Given the description of an element on the screen output the (x, y) to click on. 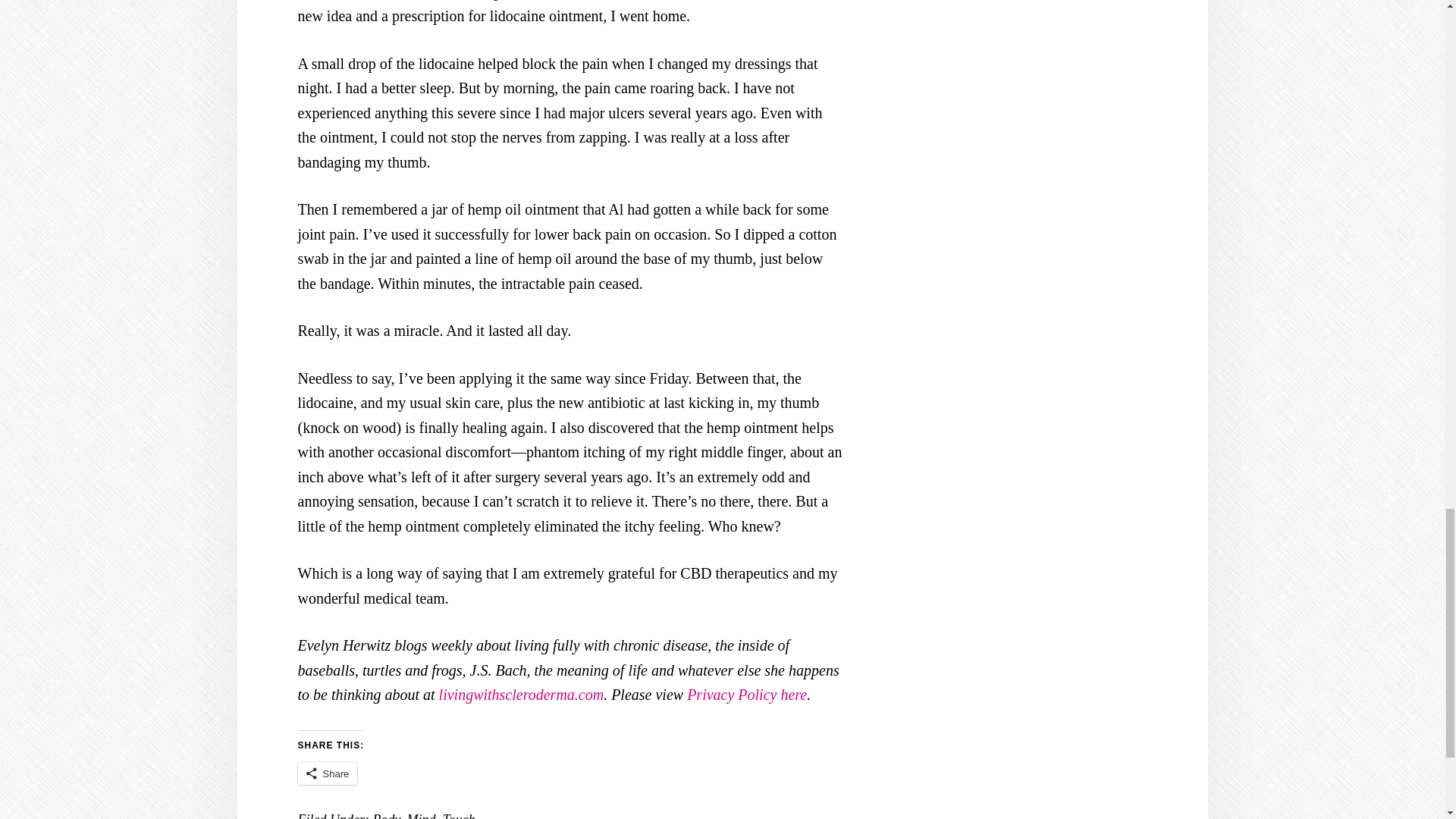
Body (385, 815)
Privacy Policy here (746, 694)
Mind (420, 815)
Touch (458, 815)
Share (326, 773)
livingwithscleroderma.com (521, 694)
